Given the description of an element on the screen output the (x, y) to click on. 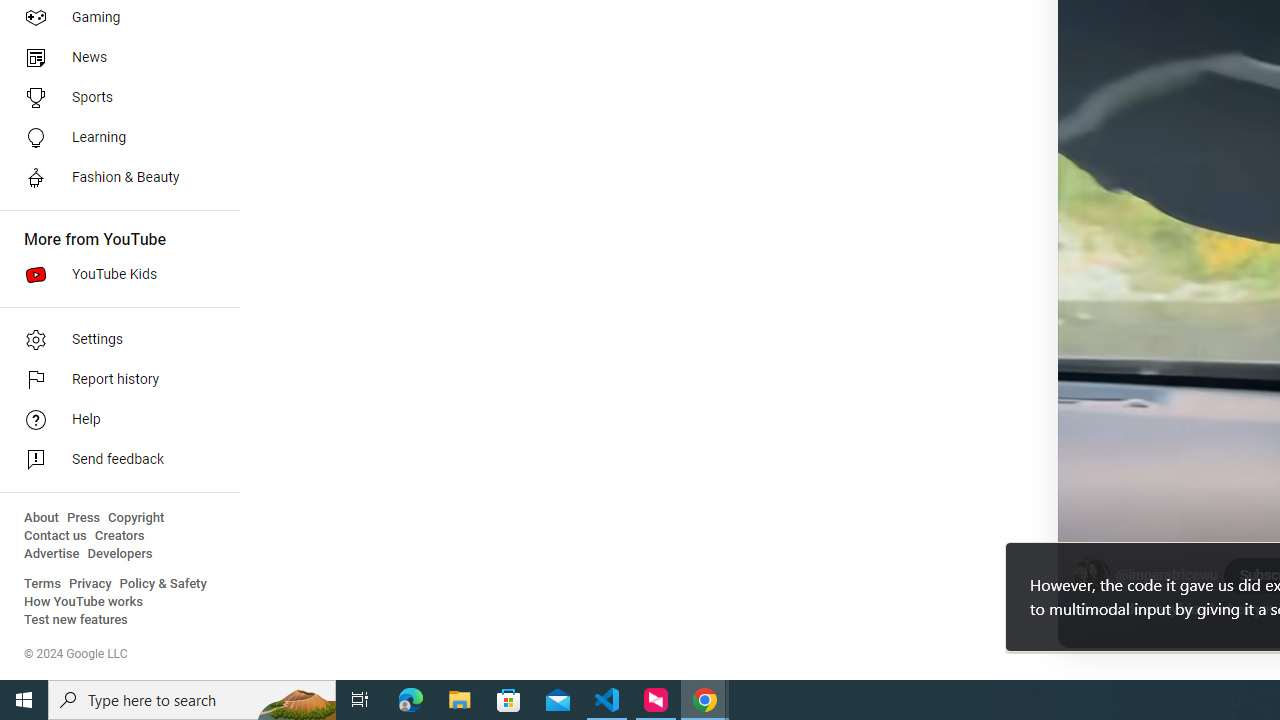
Developers (120, 554)
Fashion & Beauty (113, 177)
Advertise (51, 554)
Learning (113, 137)
Send feedback (113, 459)
Terms (42, 584)
News (113, 57)
Press (83, 518)
About (41, 518)
Copyright (136, 518)
@imperatricewu (1166, 575)
Privacy (89, 584)
Policy & Safety (163, 584)
How YouTube works (83, 602)
